Given the description of an element on the screen output the (x, y) to click on. 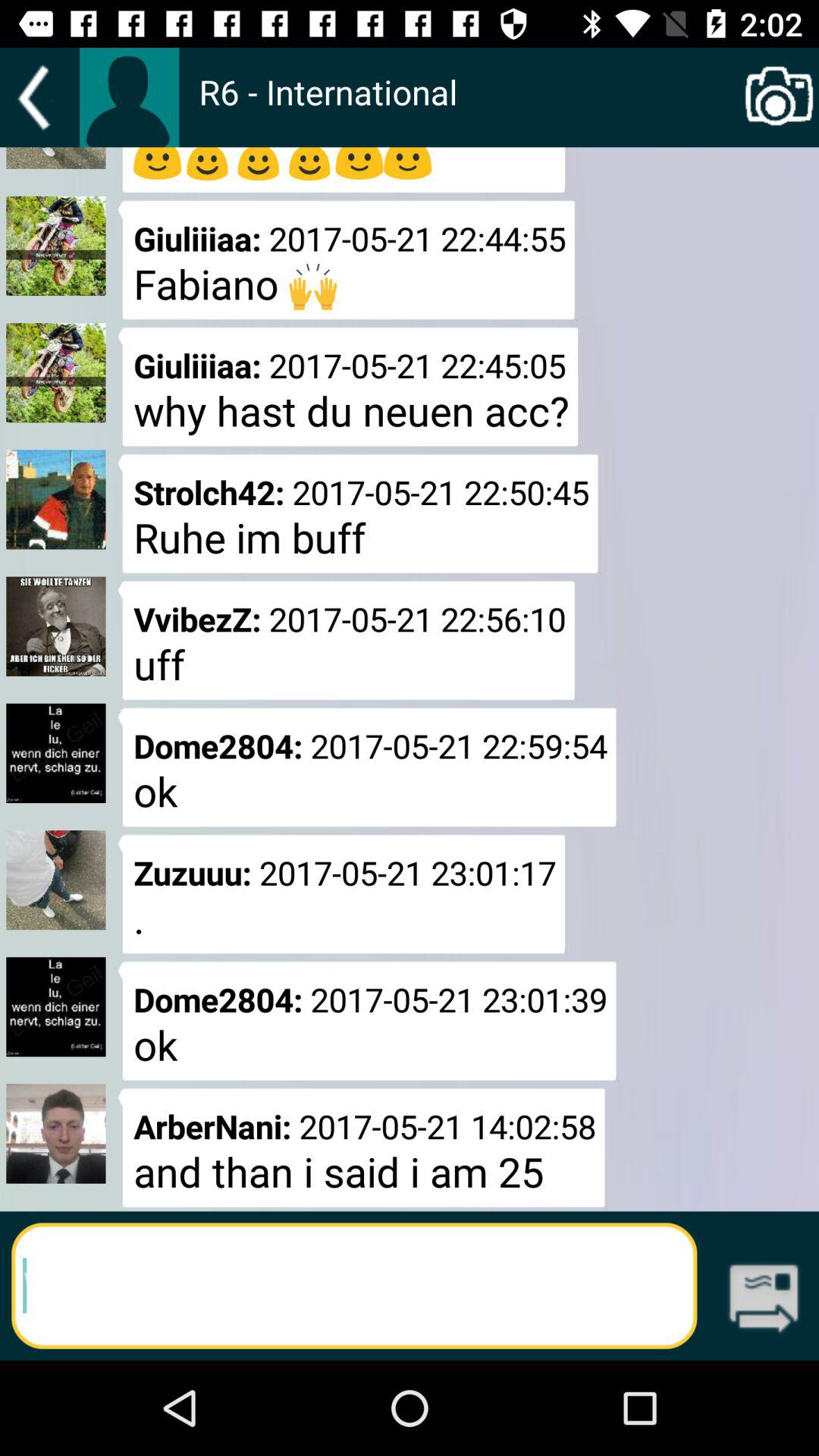
jump until arbernani 2017 05 icon (361, 1147)
